Given the description of an element on the screen output the (x, y) to click on. 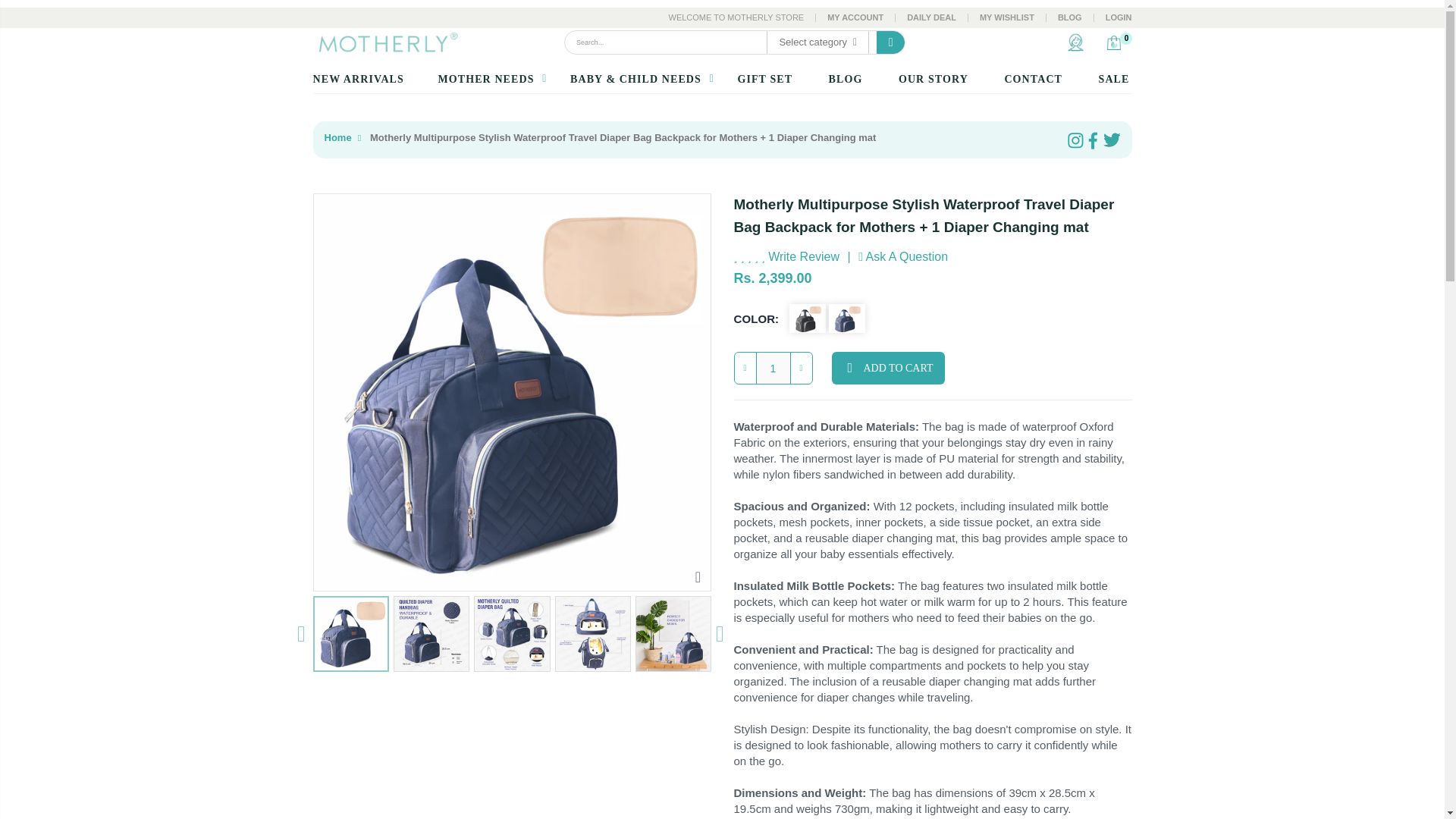
1 (772, 368)
MY ACCOUNT (855, 17)
Back to the frontpage (338, 138)
Select category (818, 42)
Select category (817, 42)
LOGIN (1118, 17)
MY WISHLIST (1006, 17)
BLOG (1069, 17)
DAILY DEAL (931, 17)
0 (1115, 41)
